Given the description of an element on the screen output the (x, y) to click on. 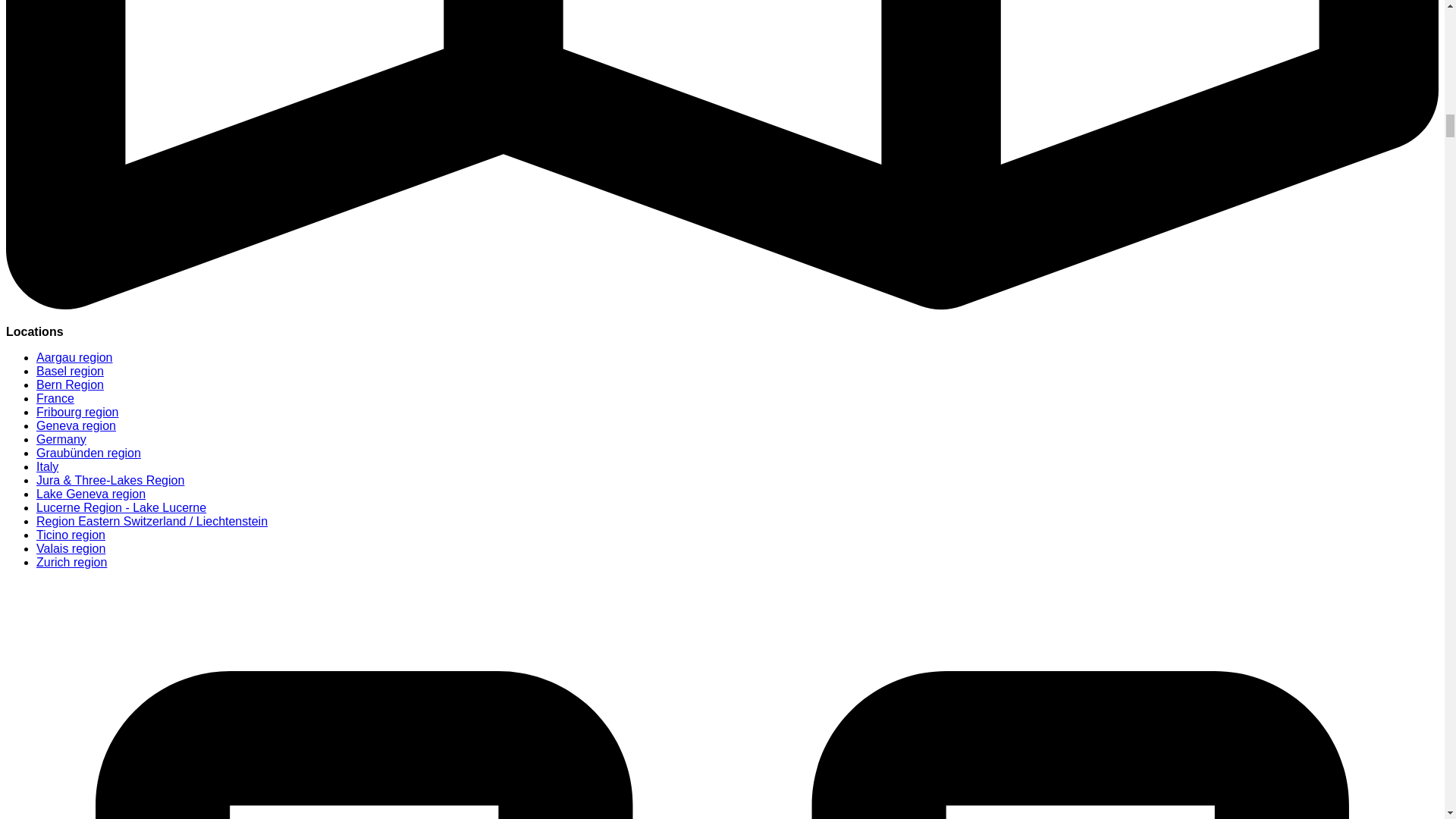
Italy (47, 466)
Ticino region (70, 534)
Aargau region (74, 357)
France (55, 398)
Valais region (70, 548)
Germany (60, 439)
Fribourg region (77, 411)
Bern Region (69, 384)
Lucerne Region - Lake Lucerne (121, 507)
Basel region (69, 370)
Zurich region (71, 562)
Geneva region (76, 425)
Lake Geneva region (90, 493)
